Given the description of an element on the screen output the (x, y) to click on. 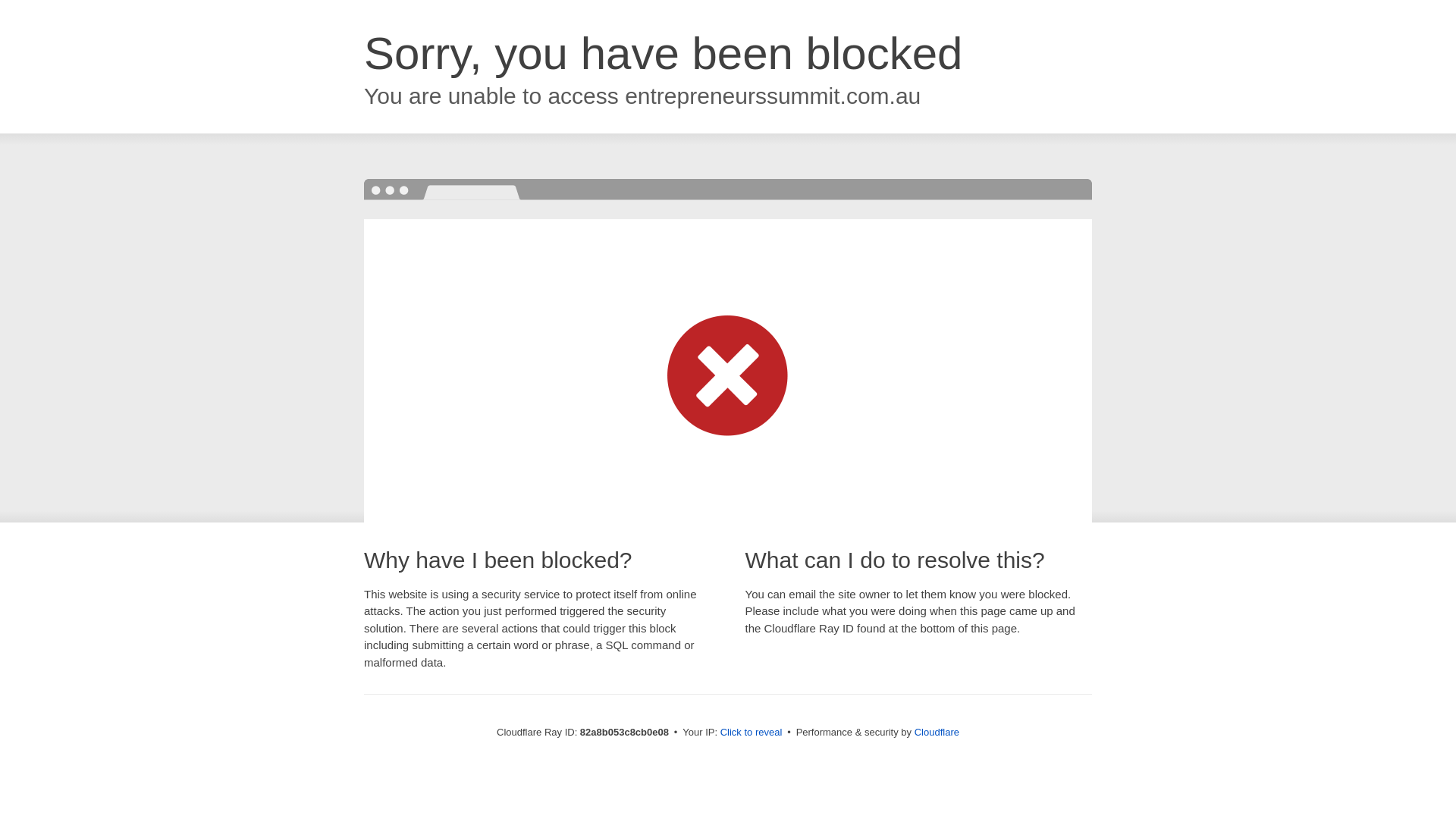
Cloudflare Element type: text (936, 731)
Click to reveal Element type: text (751, 732)
